Given the description of an element on the screen output the (x, y) to click on. 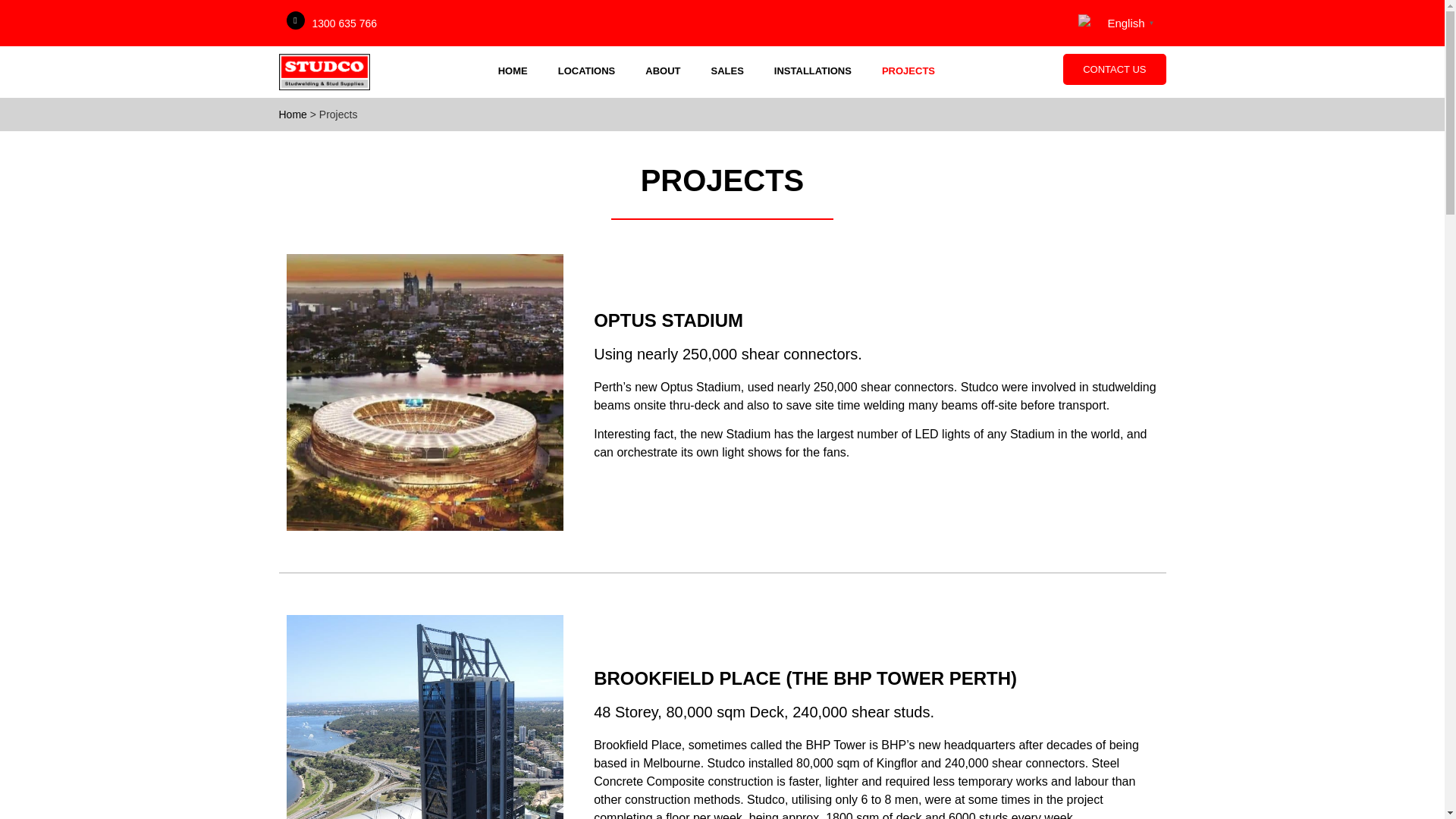
HOME (513, 71)
SALES (726, 71)
1300 635 766 (345, 22)
Go to Studco. (293, 114)
Studco-logo (324, 72)
ABOUT (662, 71)
LOCATIONS (586, 71)
